Given the description of an element on the screen output the (x, y) to click on. 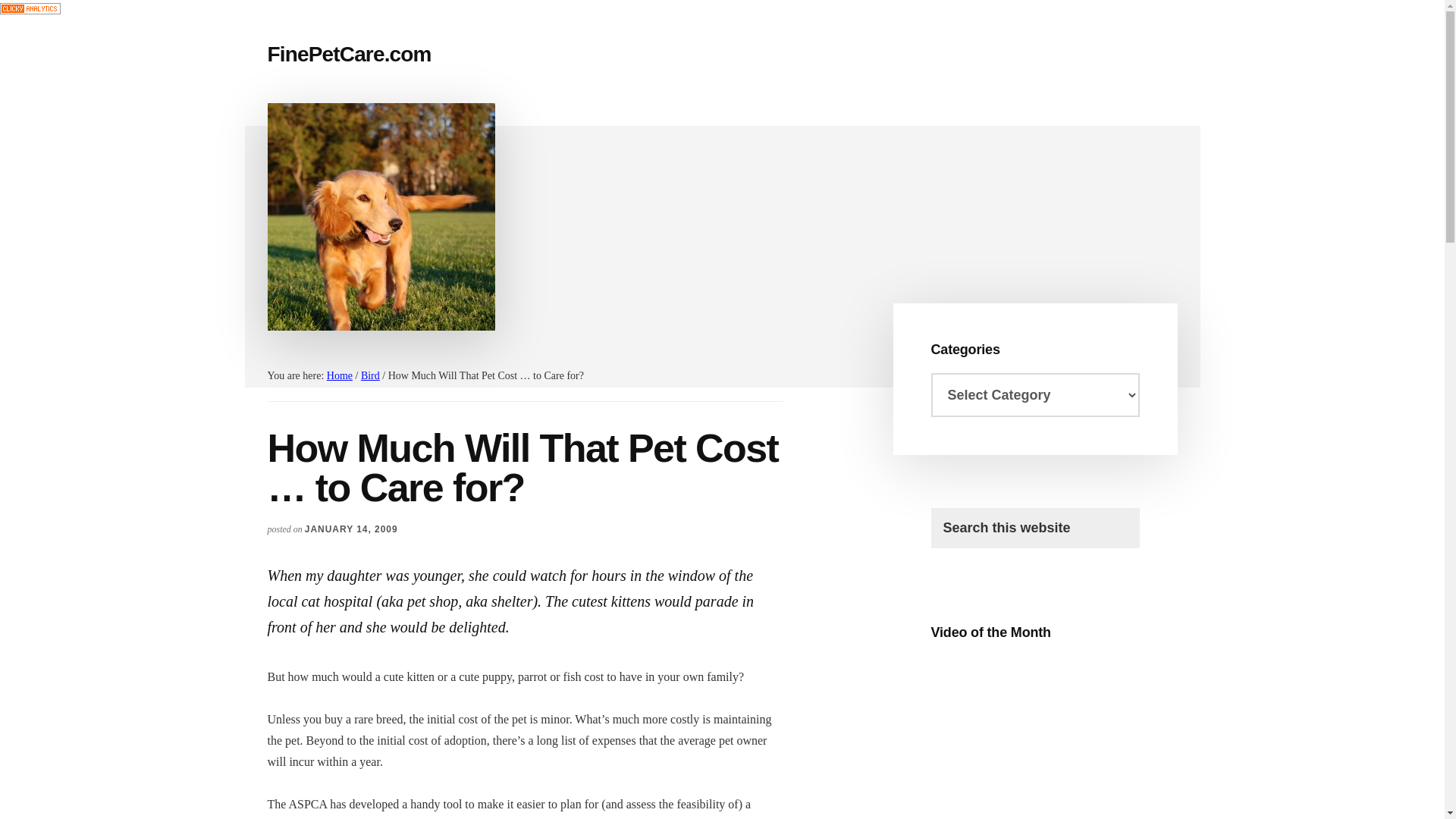
FinePetCare.com (348, 54)
Real Time Web Analytics (30, 10)
Home (339, 375)
Bird (370, 375)
